Given the description of an element on the screen output the (x, y) to click on. 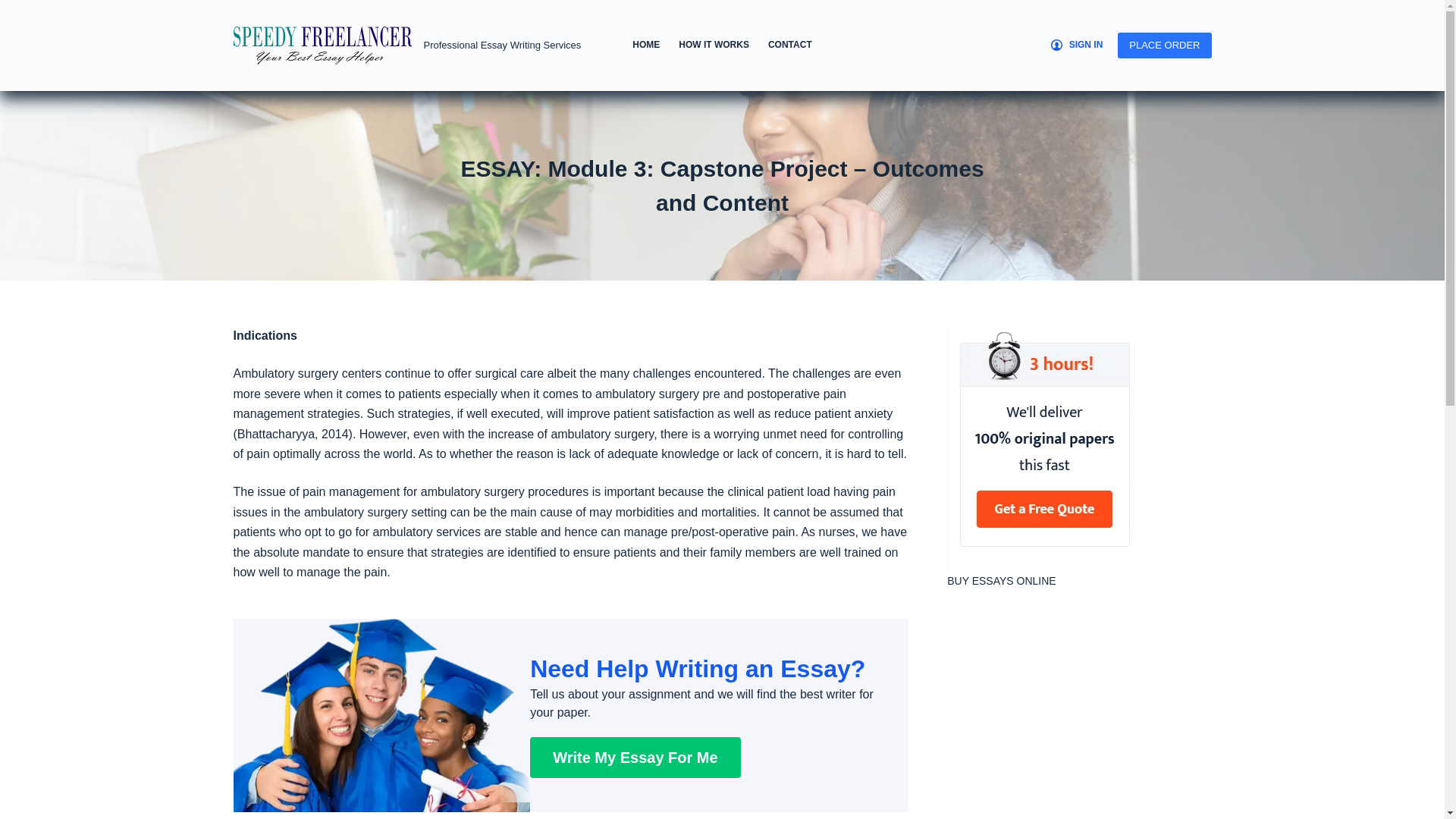
PLACE ORDER (1164, 45)
Skip to content (15, 7)
HOME (646, 45)
SIGN IN (1076, 45)
CONTACT (789, 45)
Write My Essay For Me (634, 757)
HOW IT WORKS (713, 45)
